Given the description of an element on the screen output the (x, y) to click on. 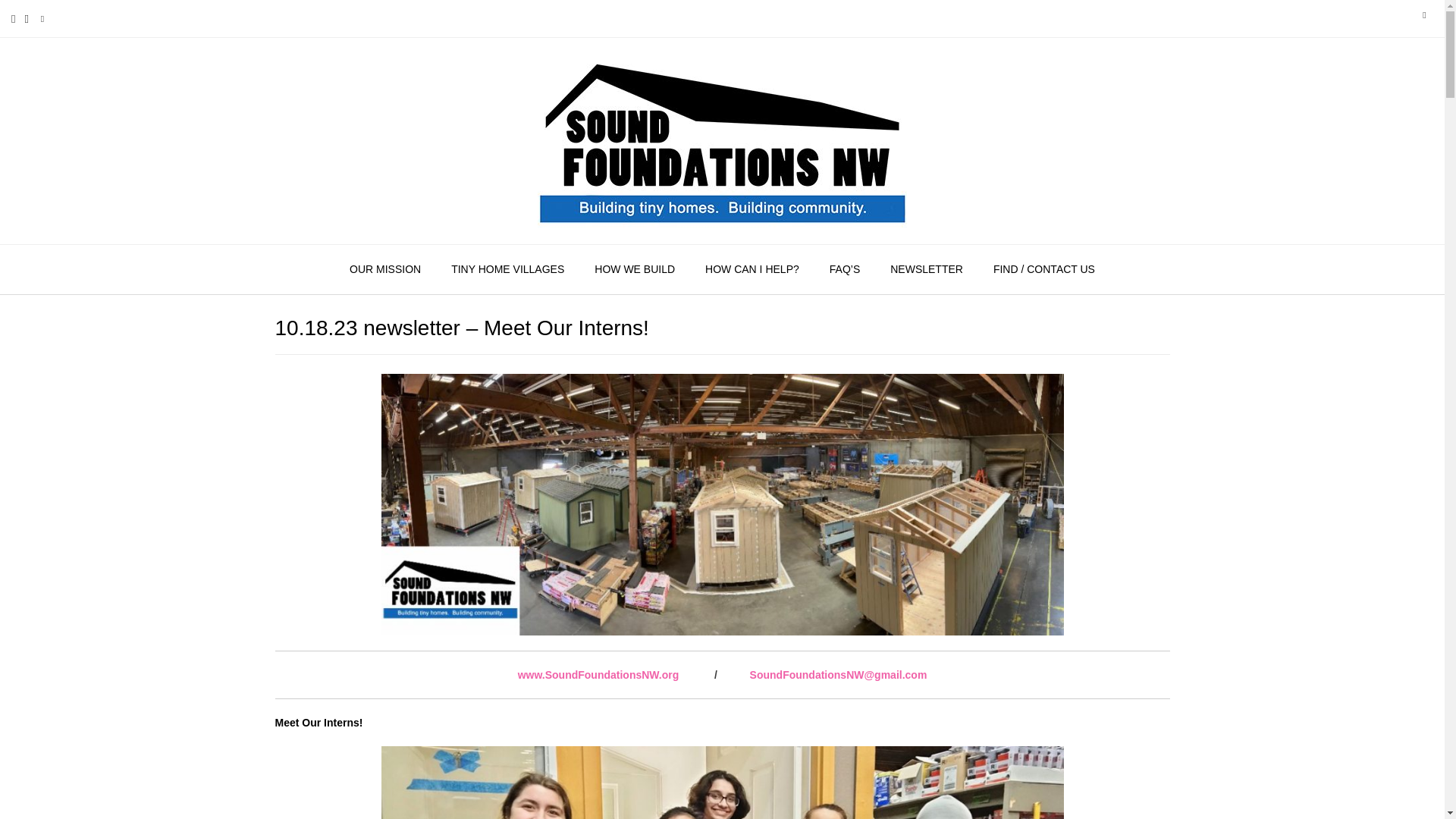
Sound Foundations NW (722, 140)
OUR MISSION (384, 269)
TINY HOME VILLAGES (507, 269)
HOW CAN I HELP? (751, 269)
HOW WE BUILD (634, 269)
www.SoundFoundationsNW.org (598, 674)
NEWSLETTER (926, 269)
